Given the description of an element on the screen output the (x, y) to click on. 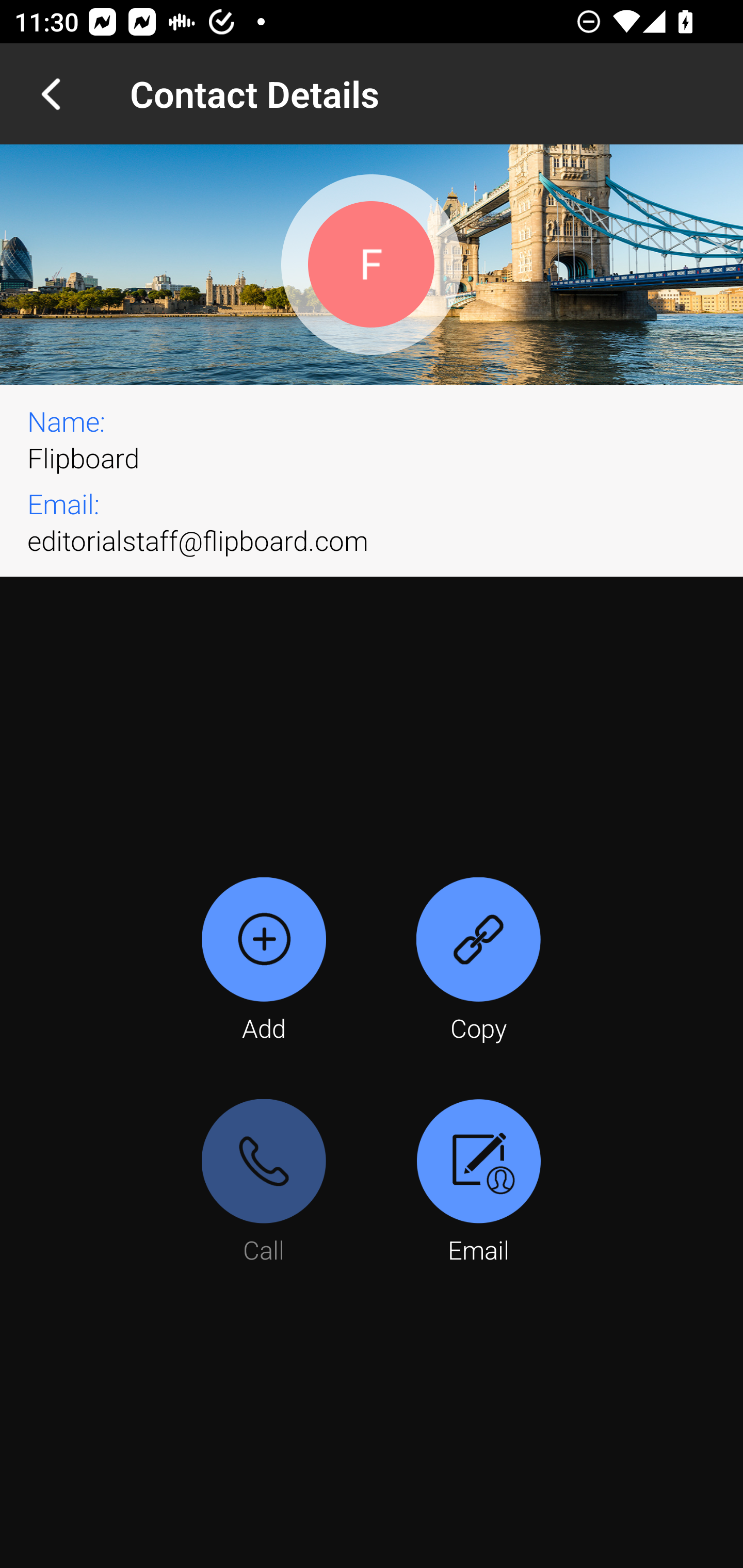
Navigate up (50, 93)
Add (264, 961)
Copy (478, 961)
Call (264, 1182)
Email (478, 1182)
